Given the description of an element on the screen output the (x, y) to click on. 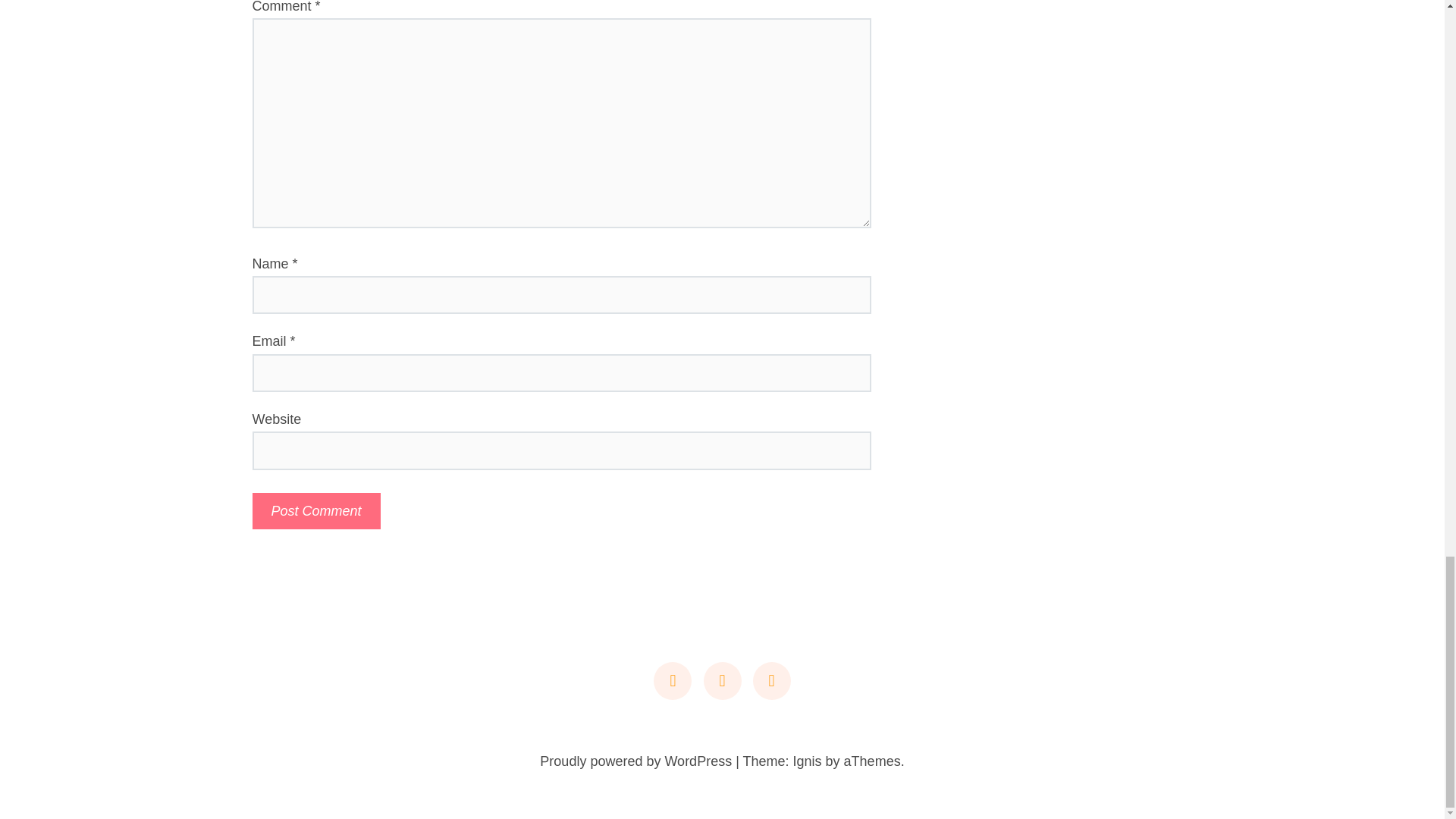
Twitter (722, 680)
Linkedin (672, 680)
Post Comment (315, 511)
Post Comment (315, 511)
